Given the description of an element on the screen output the (x, y) to click on. 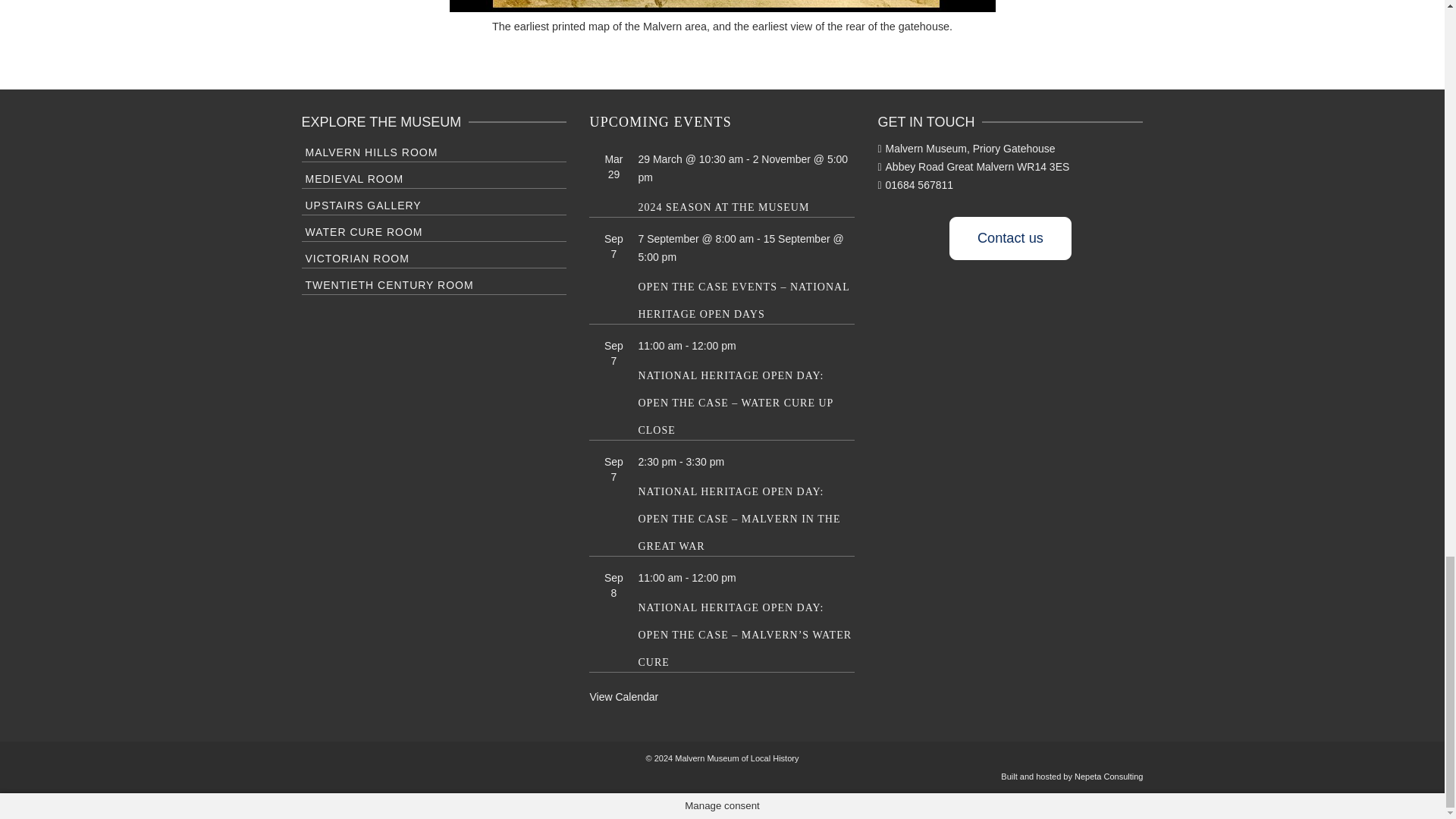
MEDIEVAL ROOM (434, 177)
MALVERN HILLS ROOM (434, 150)
Nepeta Consulting (1108, 776)
View more events. (623, 696)
UPSTAIRS GALLERY (434, 203)
2024 Season at the Museum (723, 206)
